Given the description of an element on the screen output the (x, y) to click on. 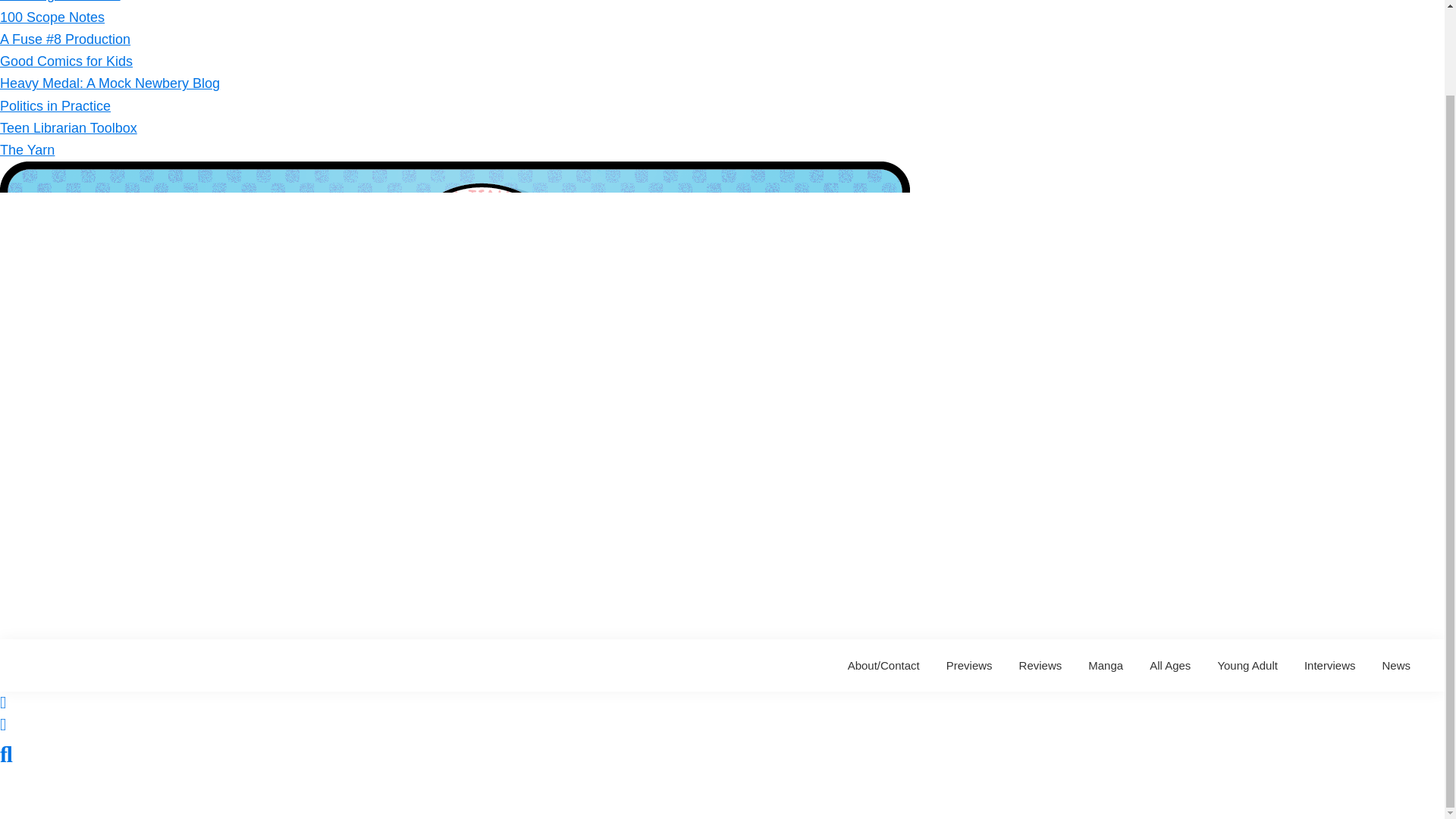
Good Comics for Kids (66, 61)
Reviews (1040, 665)
Manga (1105, 665)
All Ages (1170, 665)
Teen Librarian Toolbox (68, 127)
News (1396, 665)
Young Adult (1246, 665)
Politics in Practice (55, 105)
The Yarn (27, 150)
Heavy Medal: A Mock Newbery Blog (109, 83)
Interviews (1329, 665)
100 Scope Notes (52, 16)
Previews (969, 665)
